Given the description of an element on the screen output the (x, y) to click on. 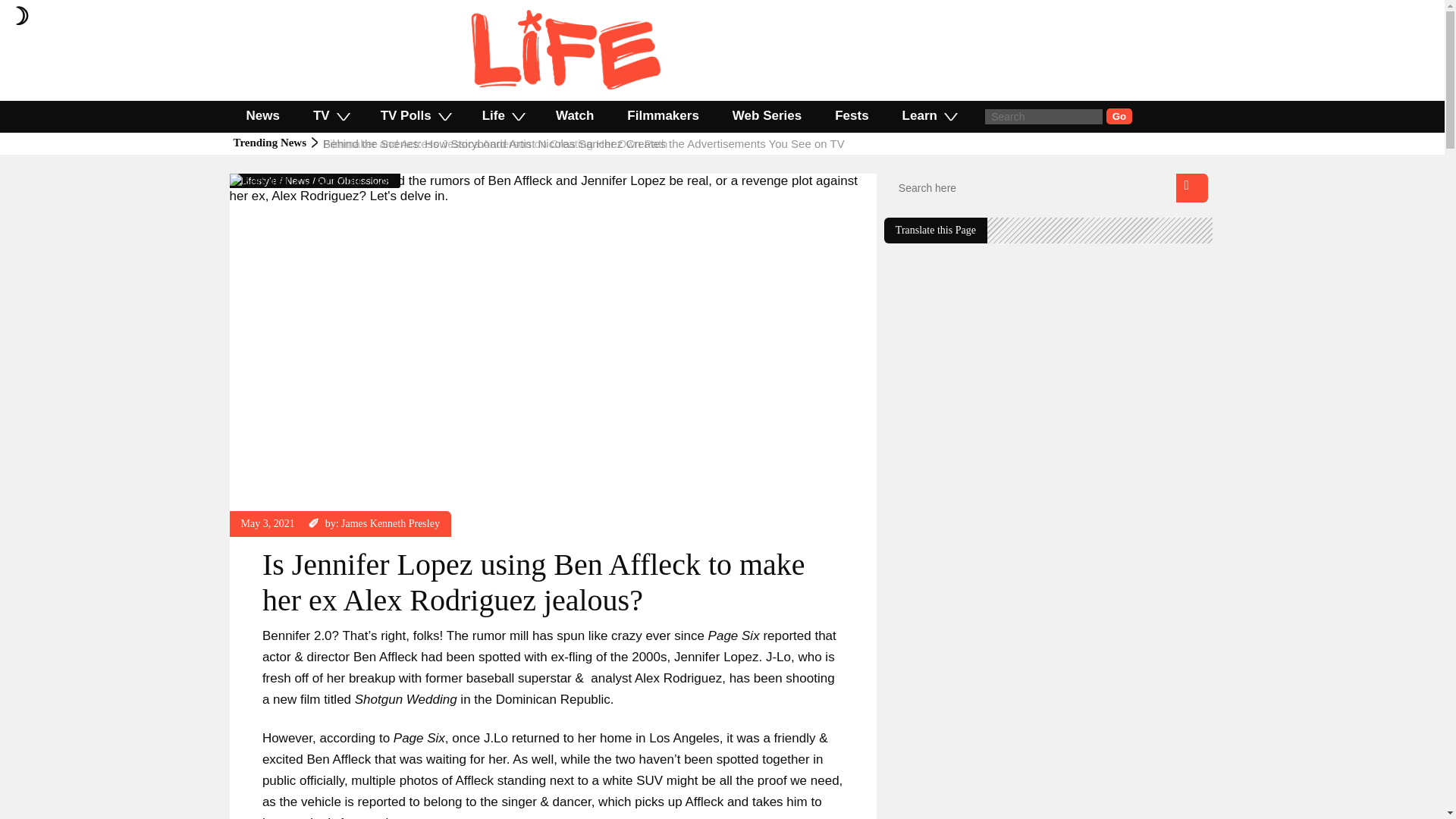
TV (330, 115)
Lifestyle (259, 180)
Watch (574, 115)
Learn (928, 115)
Fests (851, 115)
Life (501, 115)
Go (1119, 116)
Go (1119, 116)
TV Polls (414, 115)
Go (1119, 116)
